Given the description of an element on the screen output the (x, y) to click on. 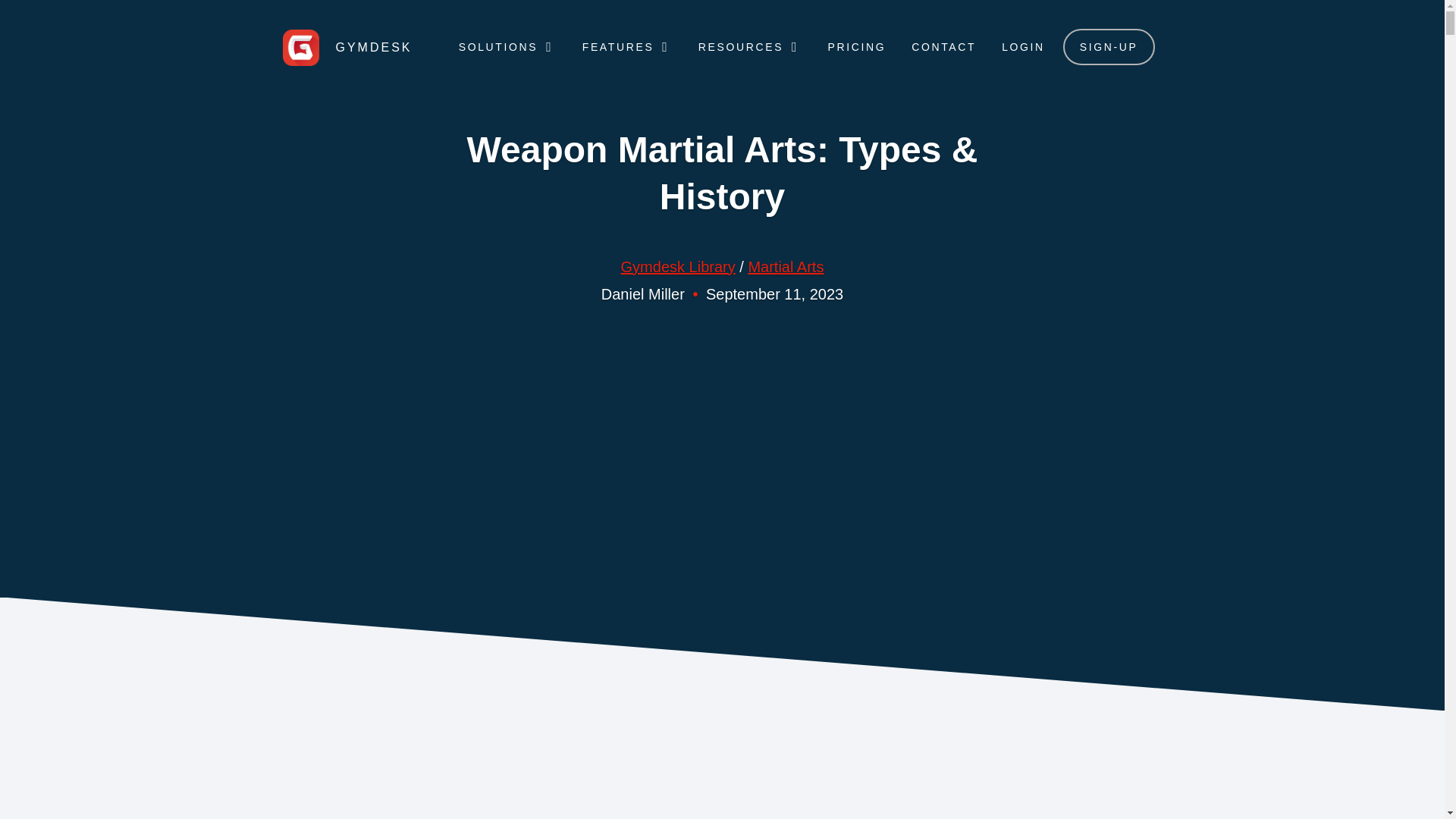
GYMDESK (347, 47)
PRICING (857, 47)
CONTACT (944, 47)
Homepage - Gymdesk (347, 47)
LOGIN (1023, 47)
SIGN-UP (1108, 46)
Gymdesk Library (678, 266)
Martial Arts (786, 266)
